Given the description of an element on the screen output the (x, y) to click on. 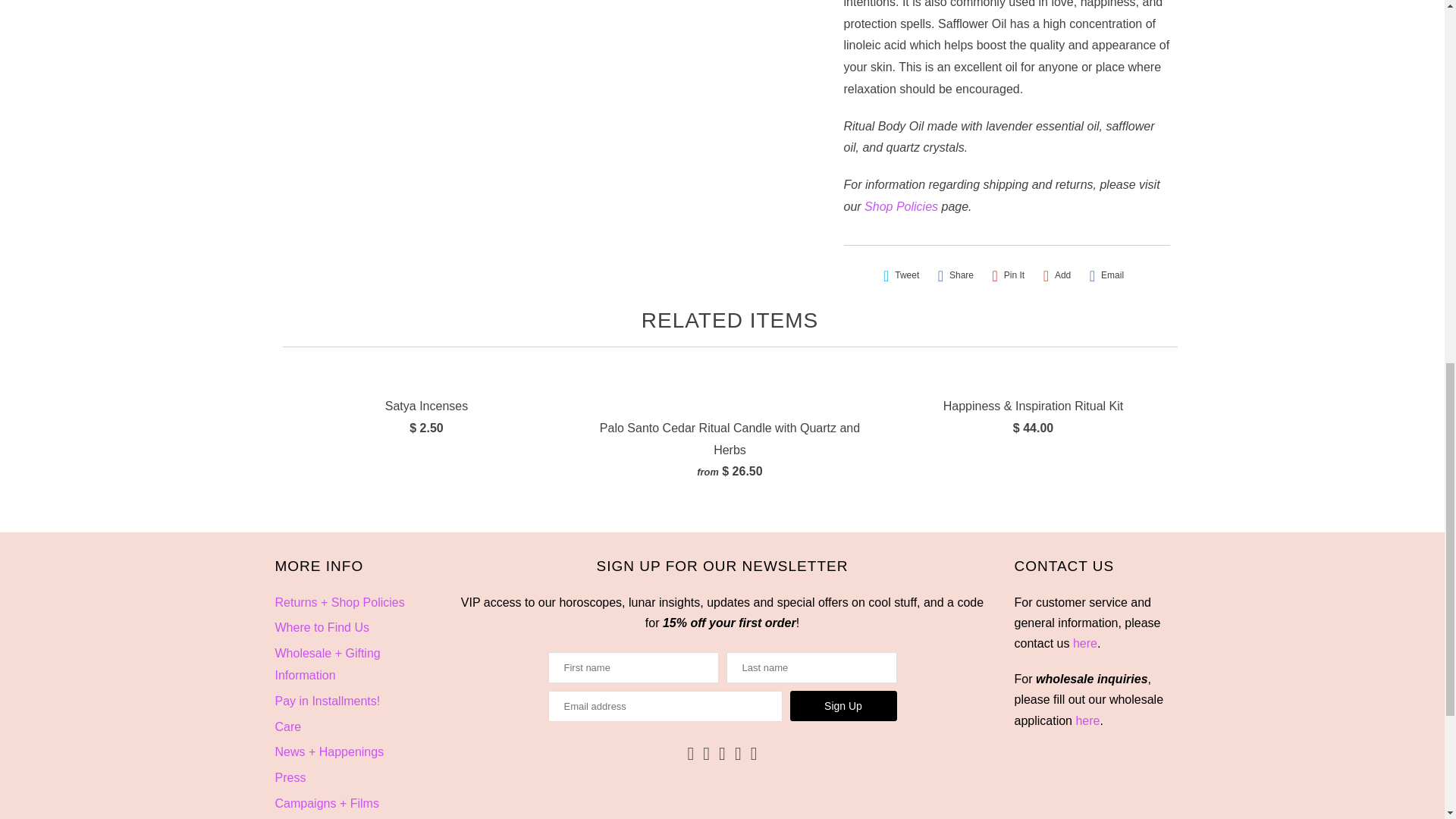
Sign Up (843, 706)
Share this on Twitter (901, 275)
Shop Policies (900, 205)
Share this on Facebook (955, 275)
Email this to a friend (1106, 275)
Share this on Pinterest (1008, 275)
